Given the description of an element on the screen output the (x, y) to click on. 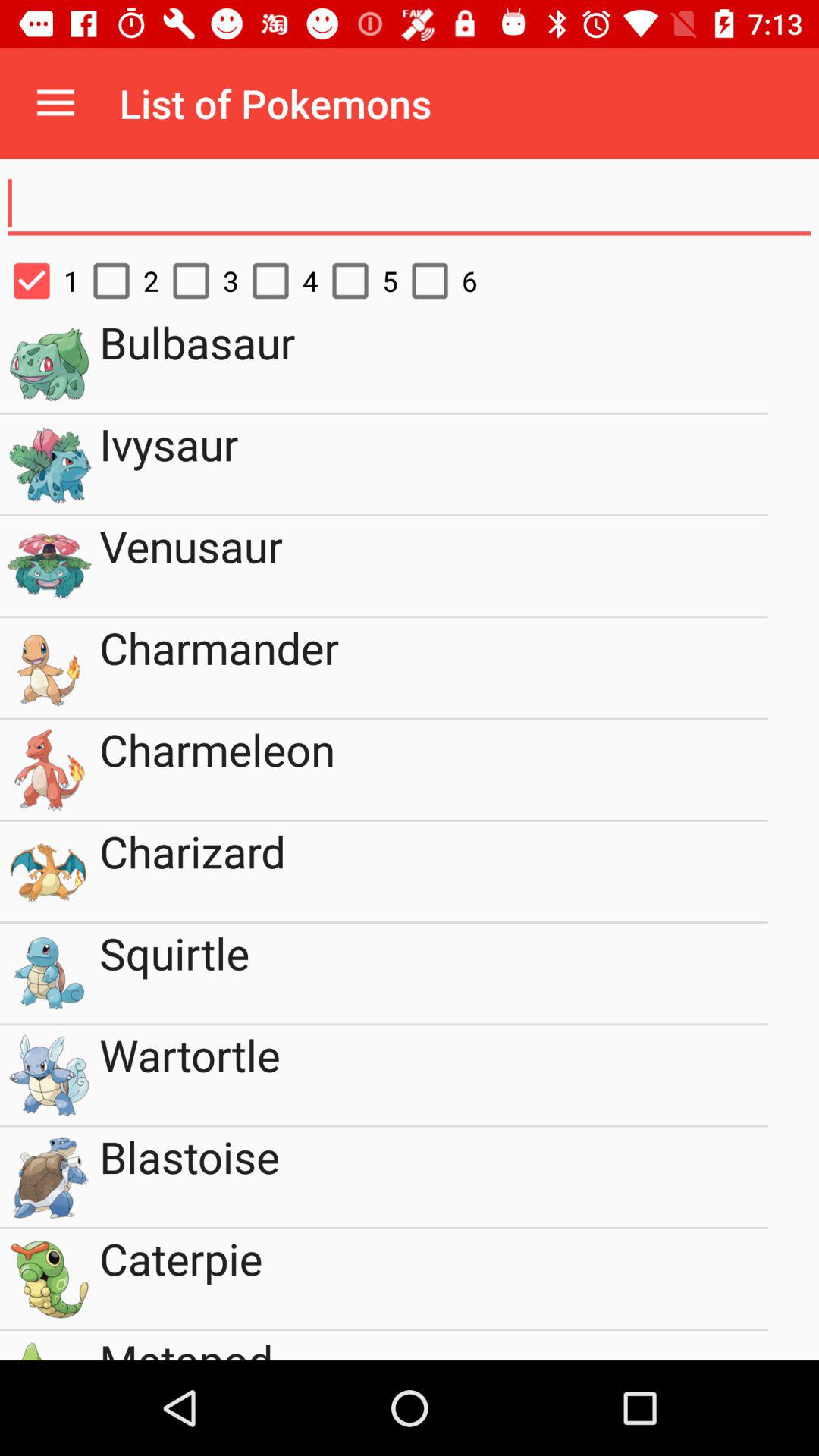
press the metapod item (433, 1345)
